Given the description of an element on the screen output the (x, y) to click on. 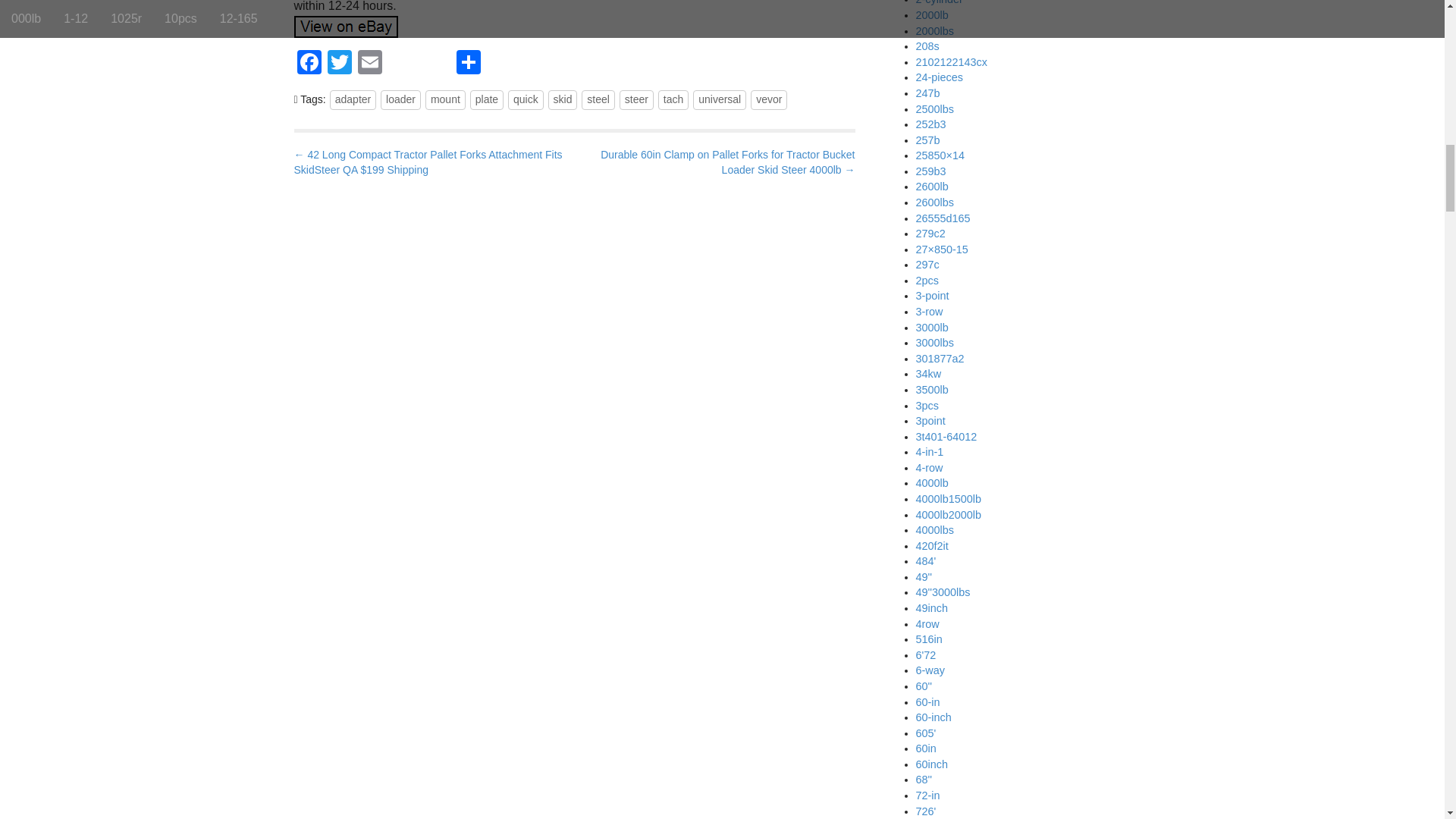
tach (673, 99)
Facebook (309, 63)
mount (445, 99)
Email (370, 63)
Twitter (339, 63)
Email (370, 63)
adapter (352, 99)
loader (400, 99)
vevor (769, 99)
Twitter (339, 63)
Facebook (309, 63)
Share (467, 63)
steer (636, 99)
steel (597, 99)
plate (486, 99)
